Given the description of an element on the screen output the (x, y) to click on. 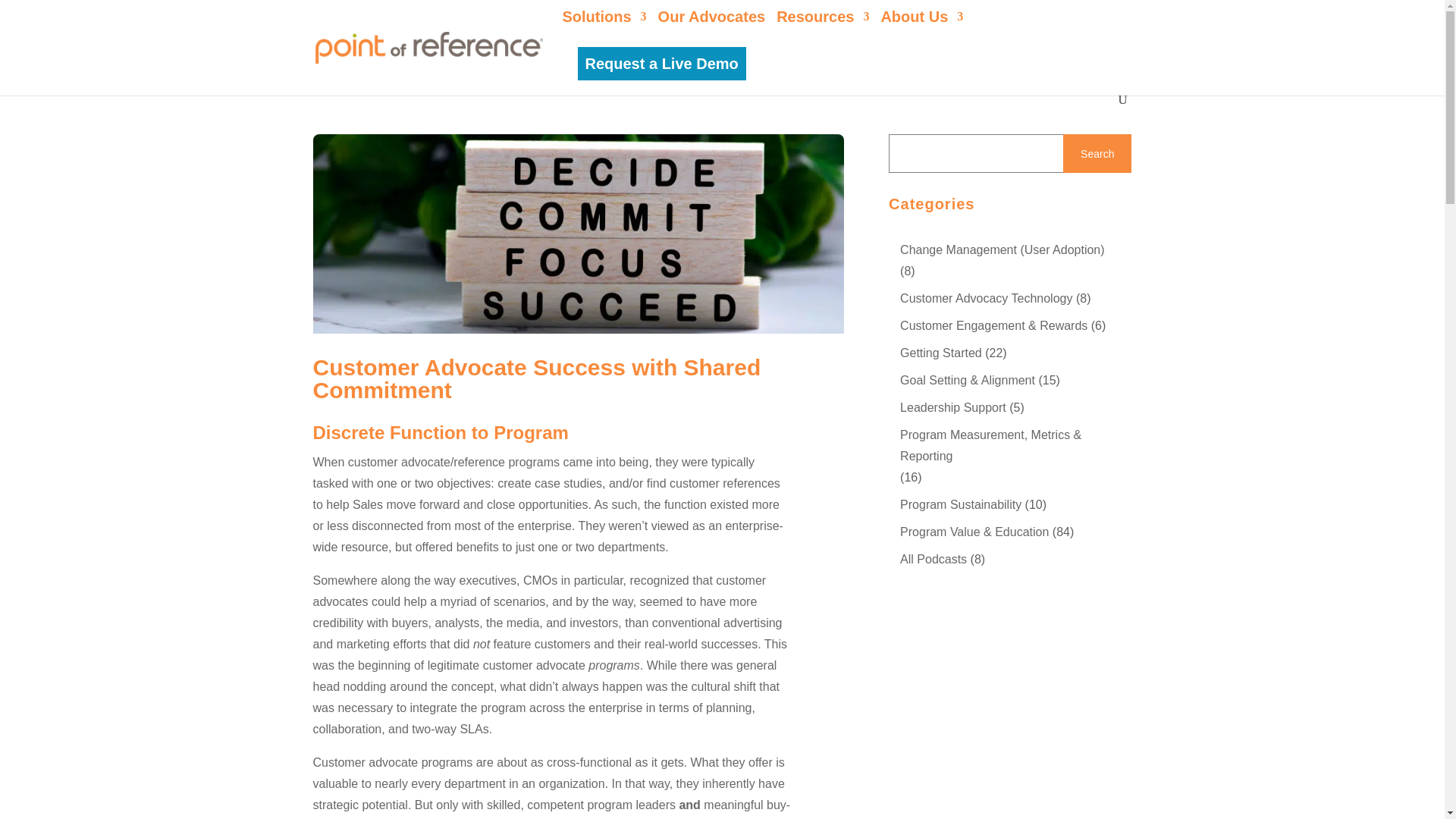
Resources (822, 28)
About Us (921, 28)
Customer Advocacy Technology (985, 298)
Getting Started (940, 353)
Search (1096, 153)
Request a Live Demo (661, 63)
Our Advocates (711, 28)
Search (24, 19)
Success with Shared Commitment (578, 233)
Solutions (604, 28)
